Given the description of an element on the screen output the (x, y) to click on. 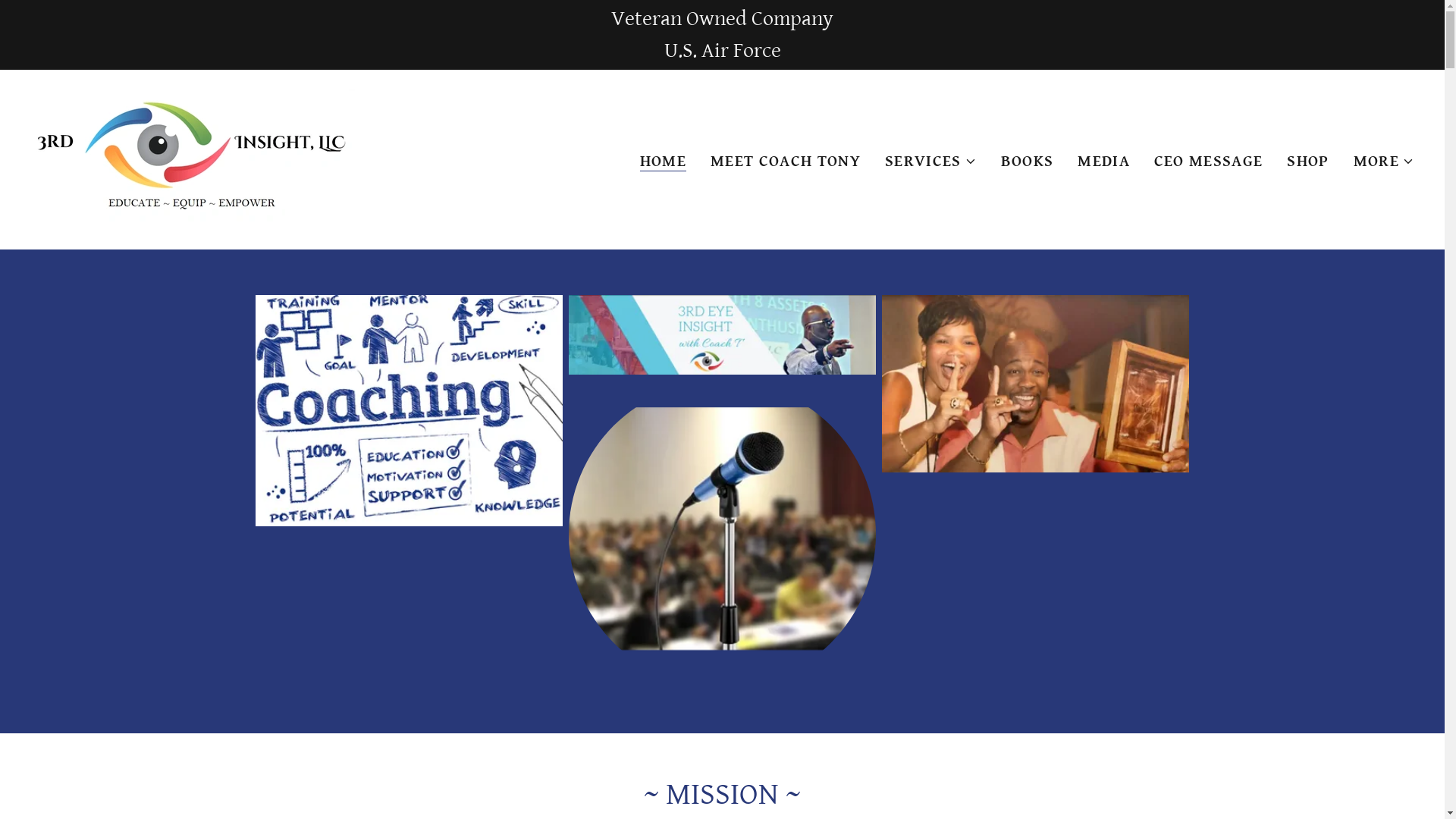
SHOP Element type: text (1307, 161)
3rd Eye Insight, llc Element type: hover (192, 158)
MEET COACH TONY Element type: text (785, 161)
CEO MESSAGE Element type: text (1208, 161)
BOOKS Element type: text (1027, 161)
MORE Element type: text (1383, 161)
MEDIA Element type: text (1103, 161)
HOME Element type: text (663, 161)
SERVICES Element type: text (930, 161)
